Given the description of an element on the screen output the (x, y) to click on. 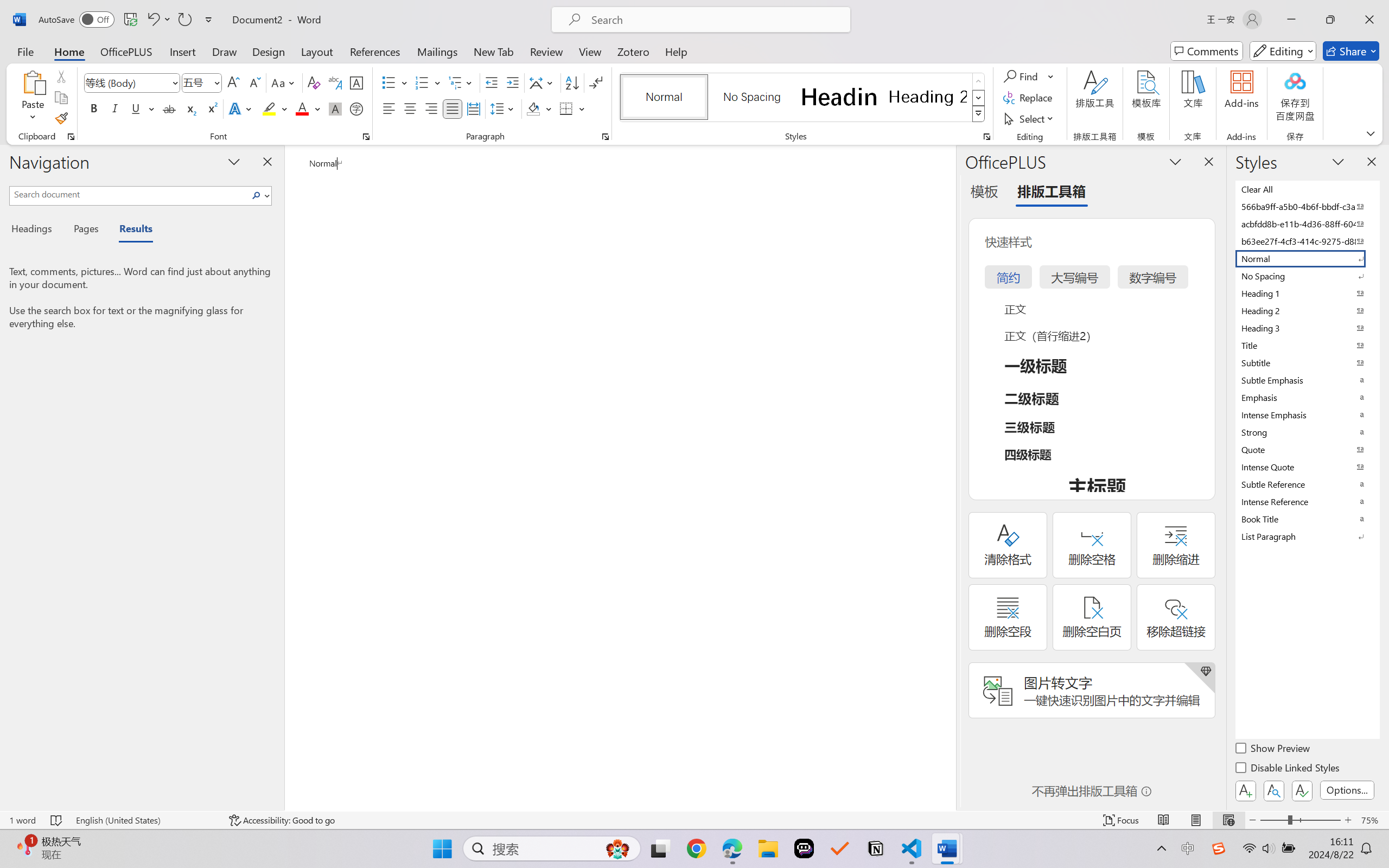
Format Painter (60, 118)
Zotero (632, 51)
Heading 2 (927, 96)
Pages (85, 229)
Results (130, 229)
Zoom (1300, 819)
Disable Linked Styles (1287, 769)
Word Count 1 word (21, 819)
Zoom Out (1273, 819)
Customize Quick Access Toolbar (208, 19)
